Given the description of an element on the screen output the (x, y) to click on. 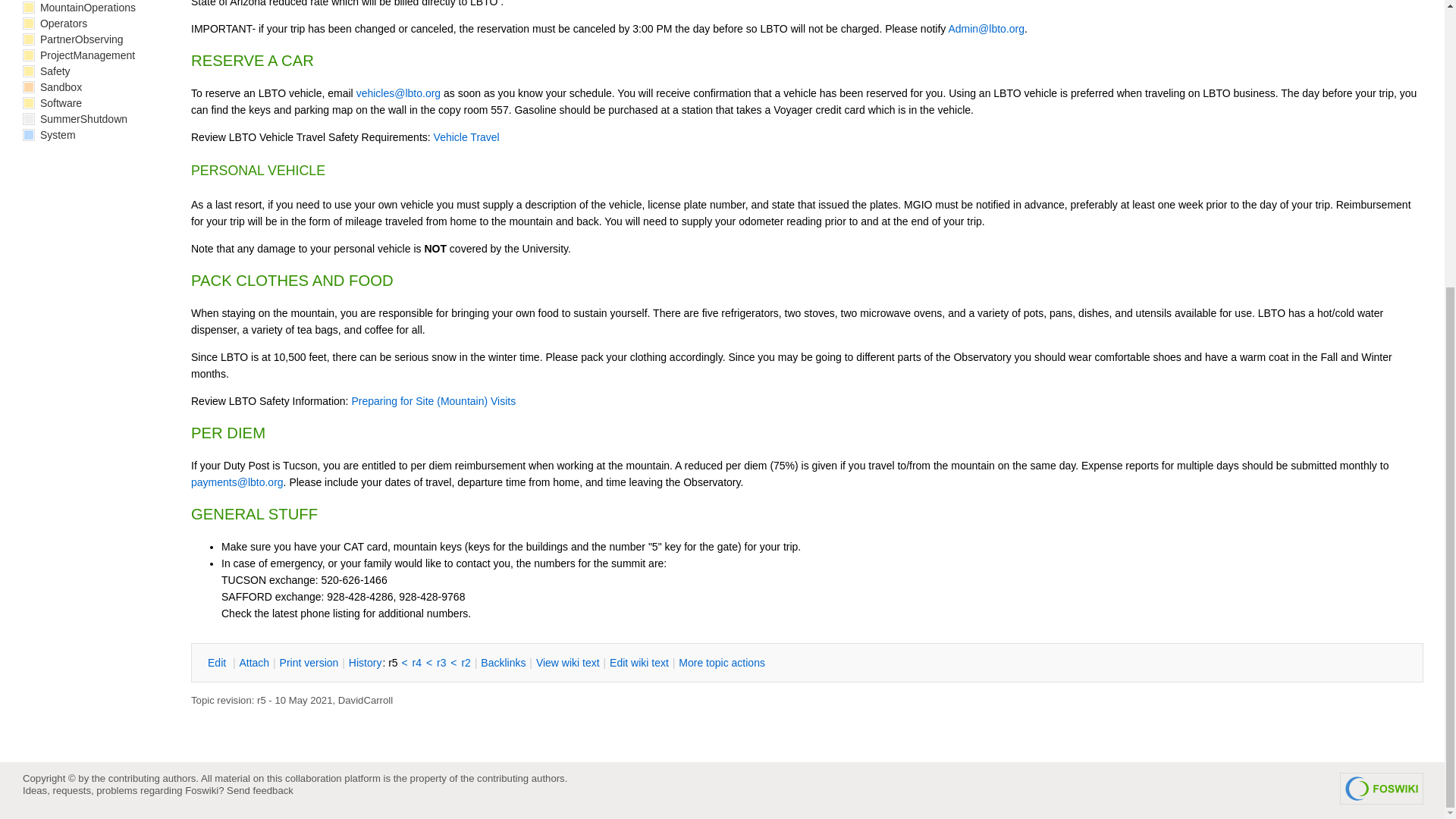
Attach an image or document to this topic (253, 663)
DavidCarroll (365, 699)
History (364, 663)
Vehicle Travel (466, 137)
Edit (218, 663)
Print version (309, 663)
Backlinks (502, 663)
Attach (253, 663)
View wiki text (567, 663)
